Given the description of an element on the screen output the (x, y) to click on. 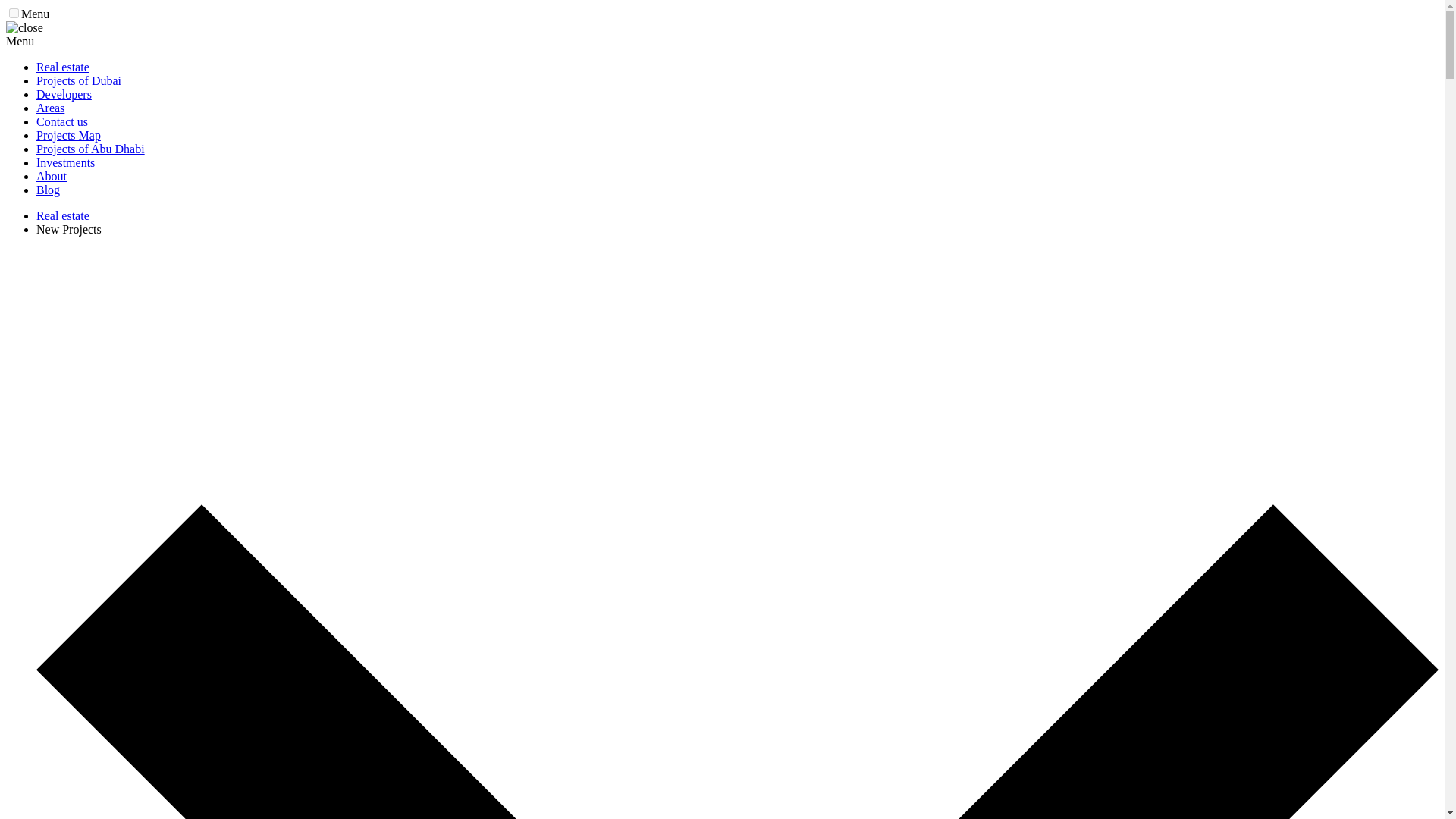
Real estate (62, 66)
on (13, 13)
Projects Map (68, 134)
Contact us (61, 121)
About (51, 175)
Areas (50, 107)
Investments (65, 162)
Projects of Abu Dhabi (90, 148)
Projects of Dubai (78, 80)
Blog (47, 189)
Developers (63, 93)
Real estate (62, 215)
